Given the description of an element on the screen output the (x, y) to click on. 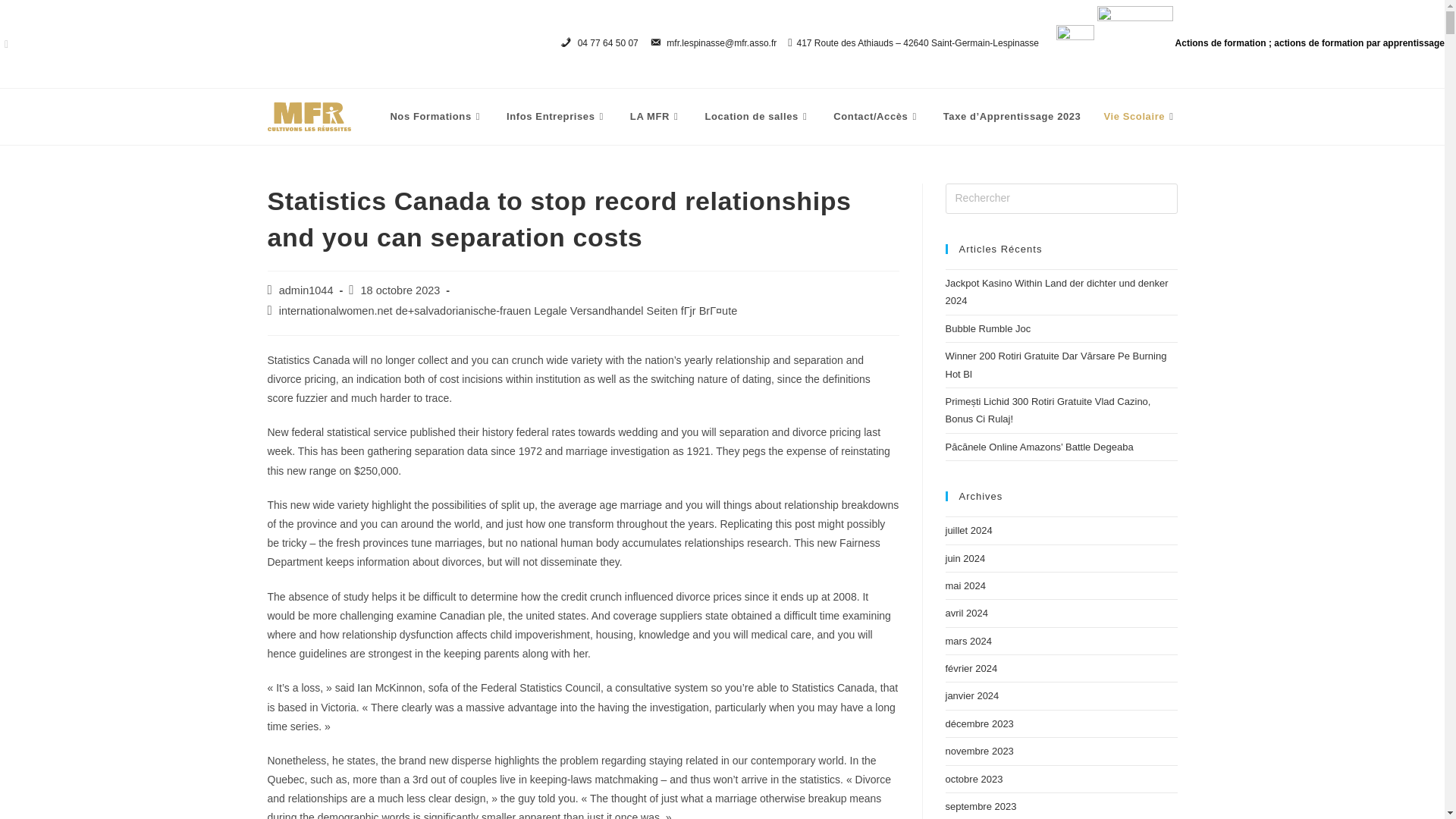
Infos Entreprises (556, 116)
Nos Formations (436, 116)
LA MFR (656, 116)
Articles par admin1044 (306, 290)
Location de salles (757, 116)
04 77 64 50 07 (599, 44)
